Given the description of an element on the screen output the (x, y) to click on. 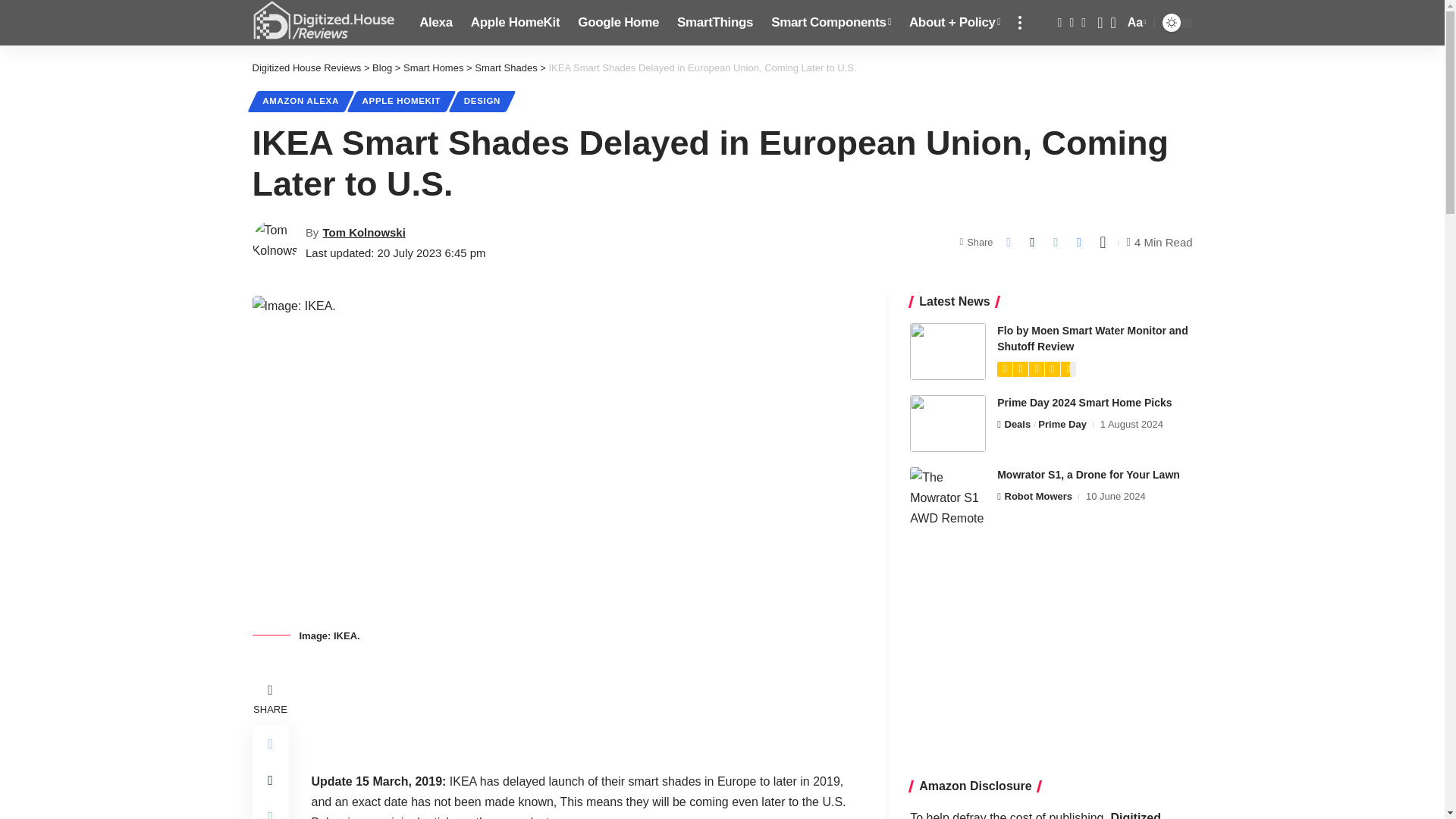
Go to the Smart Shades Category archives. (505, 67)
Smart Components (830, 22)
Mowrator S1, a Drone for Your Lawn (947, 495)
SmartThings (714, 22)
Apple HomeKit (515, 22)
Go to Blog. (381, 67)
Alexa (435, 22)
Prime Day 2024 Smart Home Picks (1135, 22)
Digitized House Reviews (947, 423)
